Given the description of an element on the screen output the (x, y) to click on. 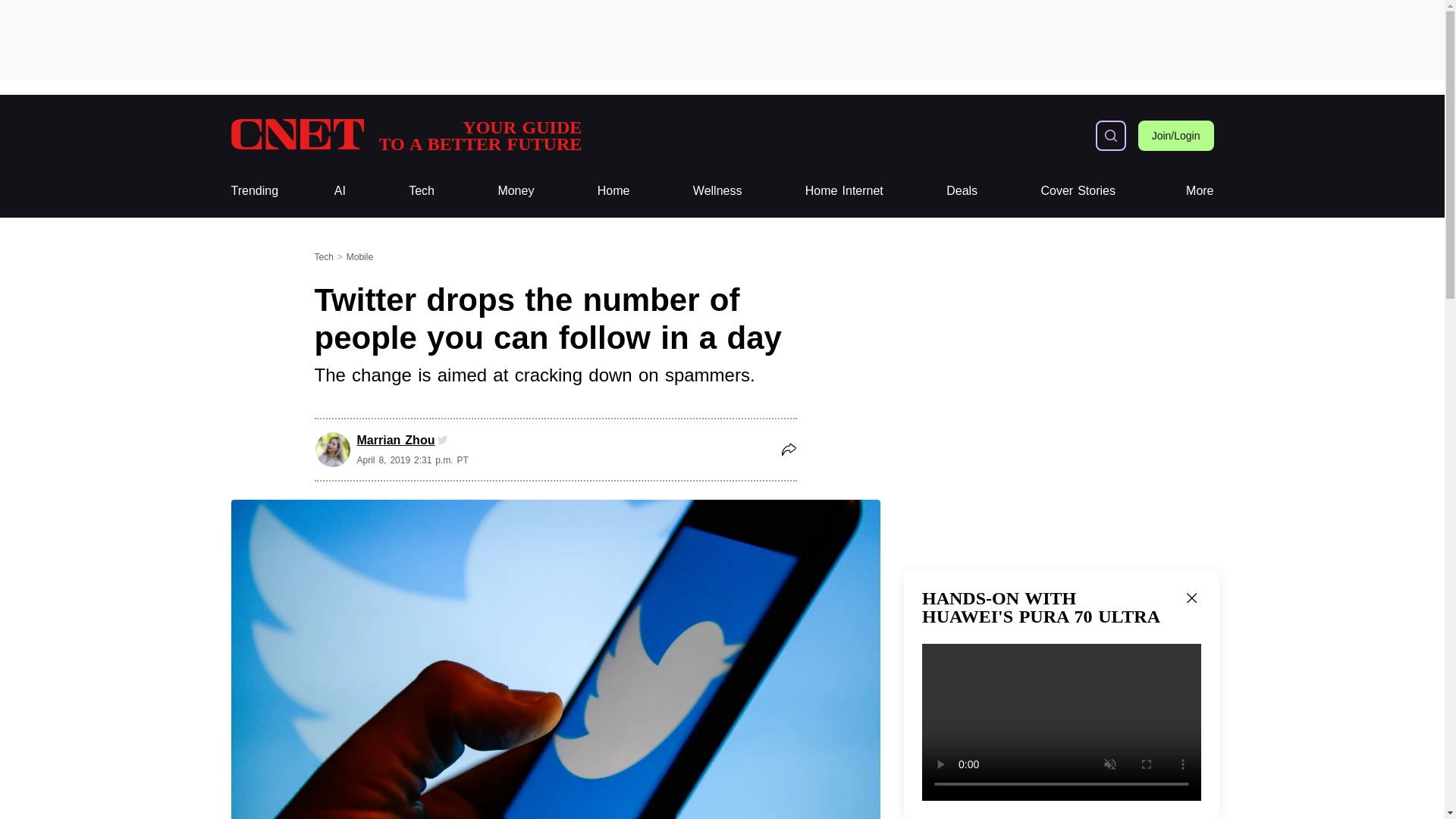
Cover Stories (1078, 190)
CNET (405, 135)
Trending (254, 190)
Money (515, 190)
Home (613, 190)
Tech (421, 190)
AI (340, 190)
3rd party ad content (721, 39)
More (1199, 190)
Tech (421, 190)
Deals (961, 190)
Money (515, 190)
AI (340, 190)
Wellness (717, 190)
Home Internet (844, 190)
